Given the description of an element on the screen output the (x, y) to click on. 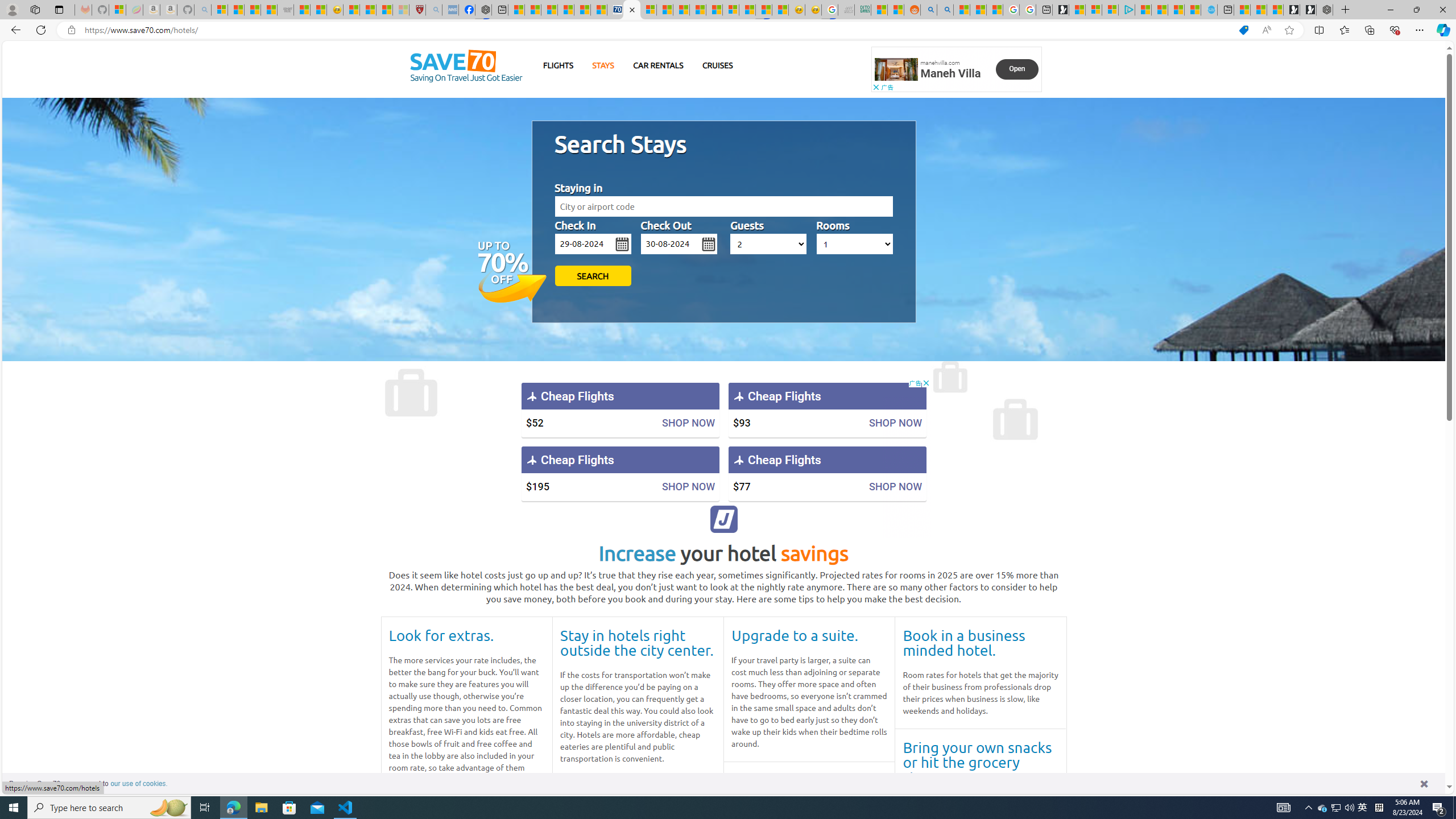
City or airport code (723, 206)
STAYS (603, 65)
CAR RENTALS (657, 65)
AutomationID: hotels_rooms (854, 243)
learn more about cookies (138, 783)
